Given the description of an element on the screen output the (x, y) to click on. 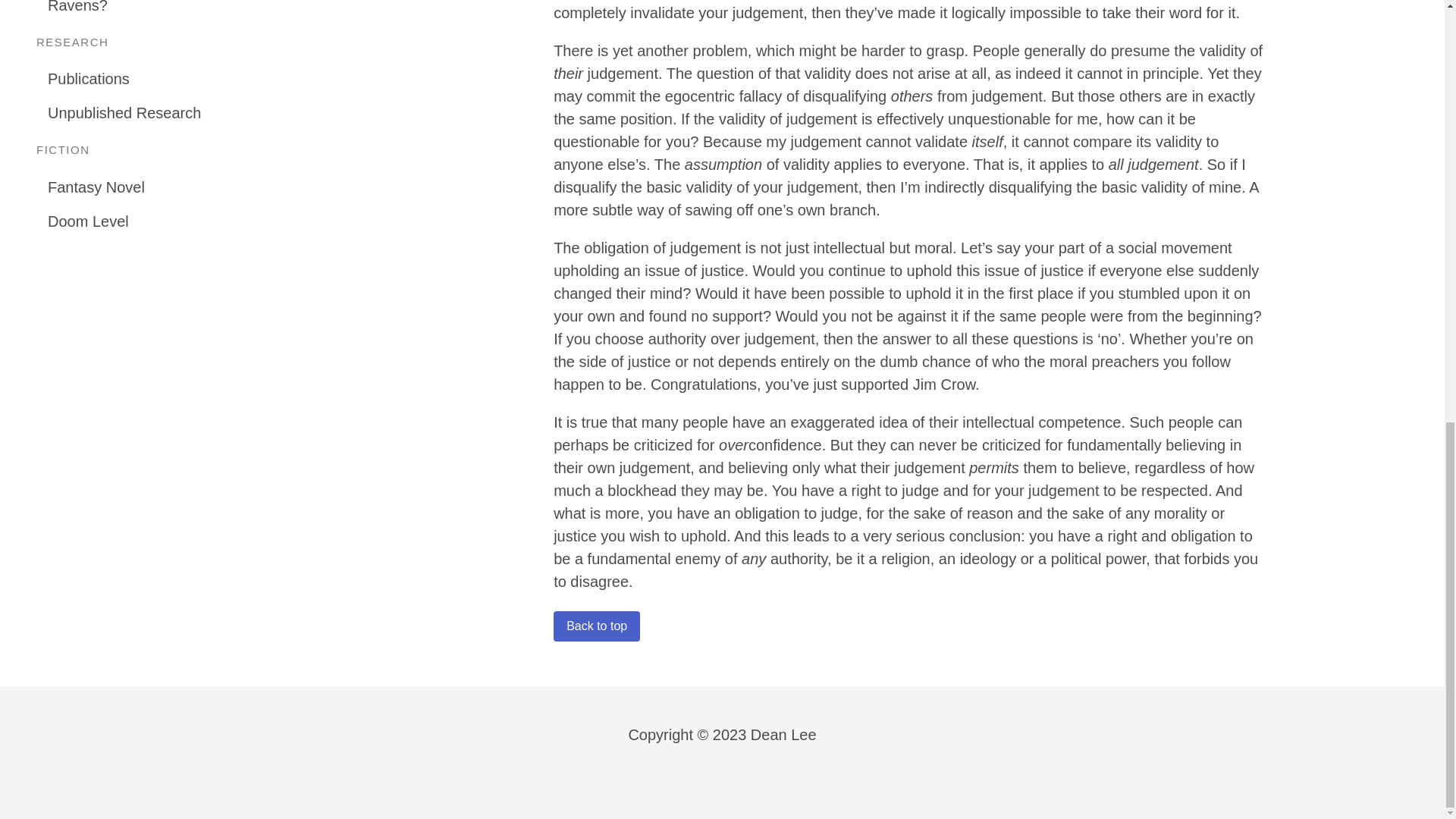
Doom Level (194, 220)
Fantasy Novel (194, 187)
Back to top (596, 625)
Publications (194, 79)
What Is the Difference between Crows and Ravens? (194, 11)
Unpublished Research (194, 113)
